Given the description of an element on the screen output the (x, y) to click on. 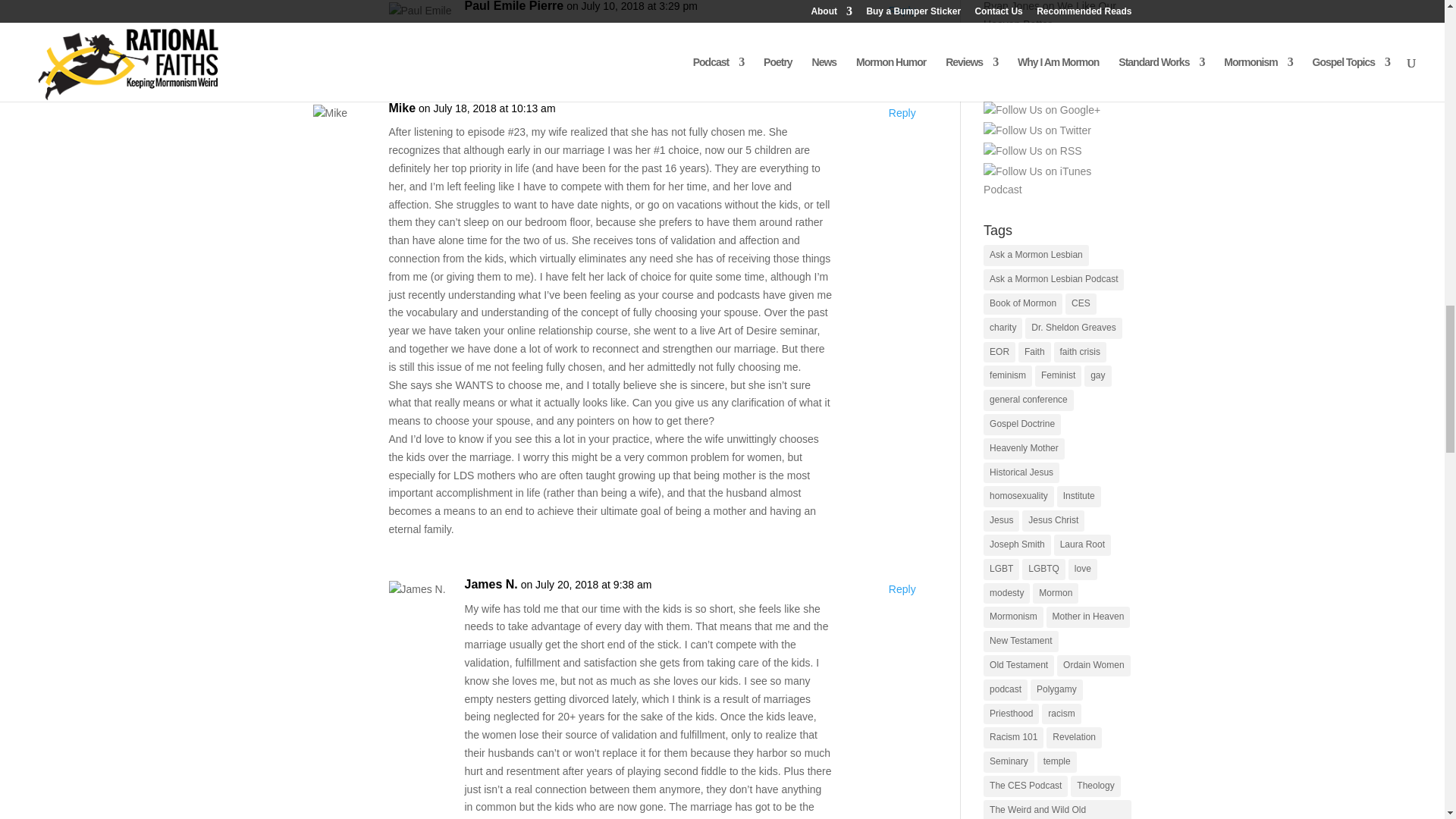
Follow Us on RSS (1032, 151)
Follow Us on Facebook (1045, 90)
Follow Us on Twitter (1037, 131)
